Given the description of an element on the screen output the (x, y) to click on. 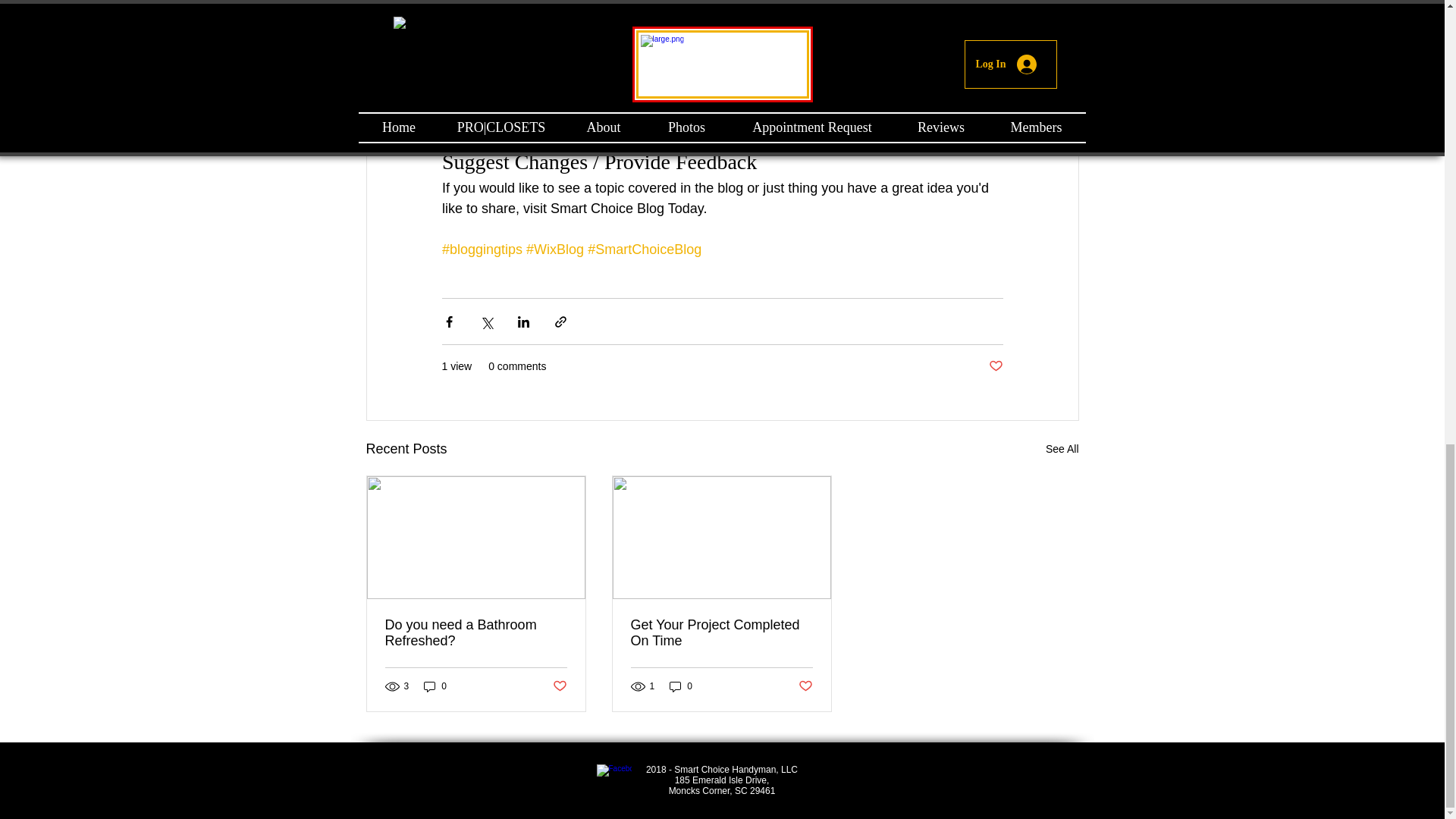
Facebook Like (837, 781)
Get Your Project Completed On Time (721, 633)
See All (1061, 449)
Post not marked as liked (804, 686)
Do you need a Bathroom Refreshed? (476, 633)
0 (435, 686)
Post not marked as liked (995, 366)
0 (681, 686)
Post not marked as liked (558, 686)
